Given the description of an element on the screen output the (x, y) to click on. 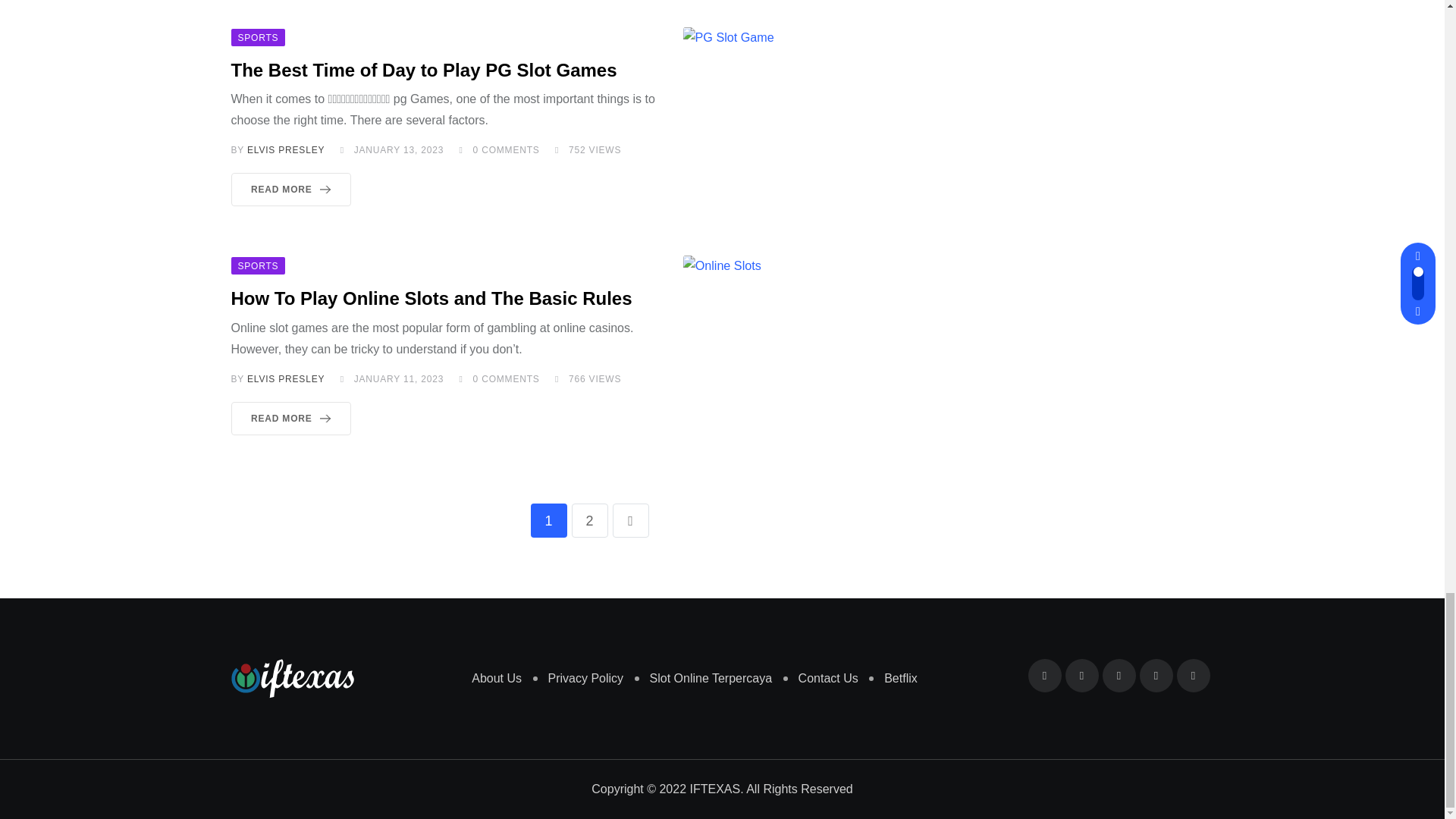
Posts by Elvis Presley (285, 378)
Posts by Elvis Presley (285, 149)
